Given the description of an element on the screen output the (x, y) to click on. 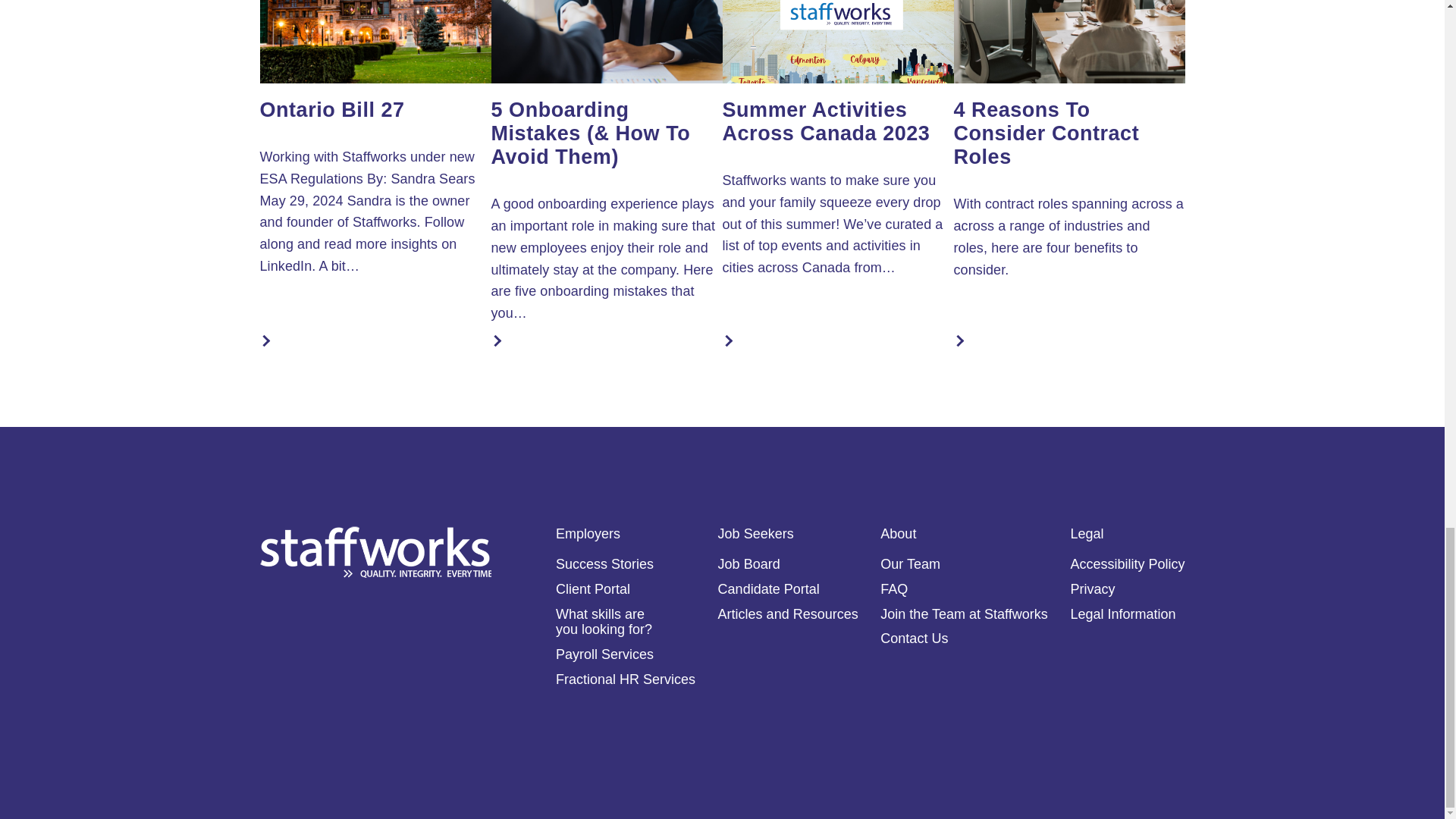
About (897, 533)
Job Seekers (755, 533)
Our Team (910, 563)
Job Board (748, 563)
Articles and Resources (788, 613)
Client Portal (593, 589)
Fractional HR Services (625, 679)
Candidate Portal (768, 589)
Employers (588, 533)
Payroll Services (604, 654)
Success Stories (604, 563)
